Given the description of an element on the screen output the (x, y) to click on. 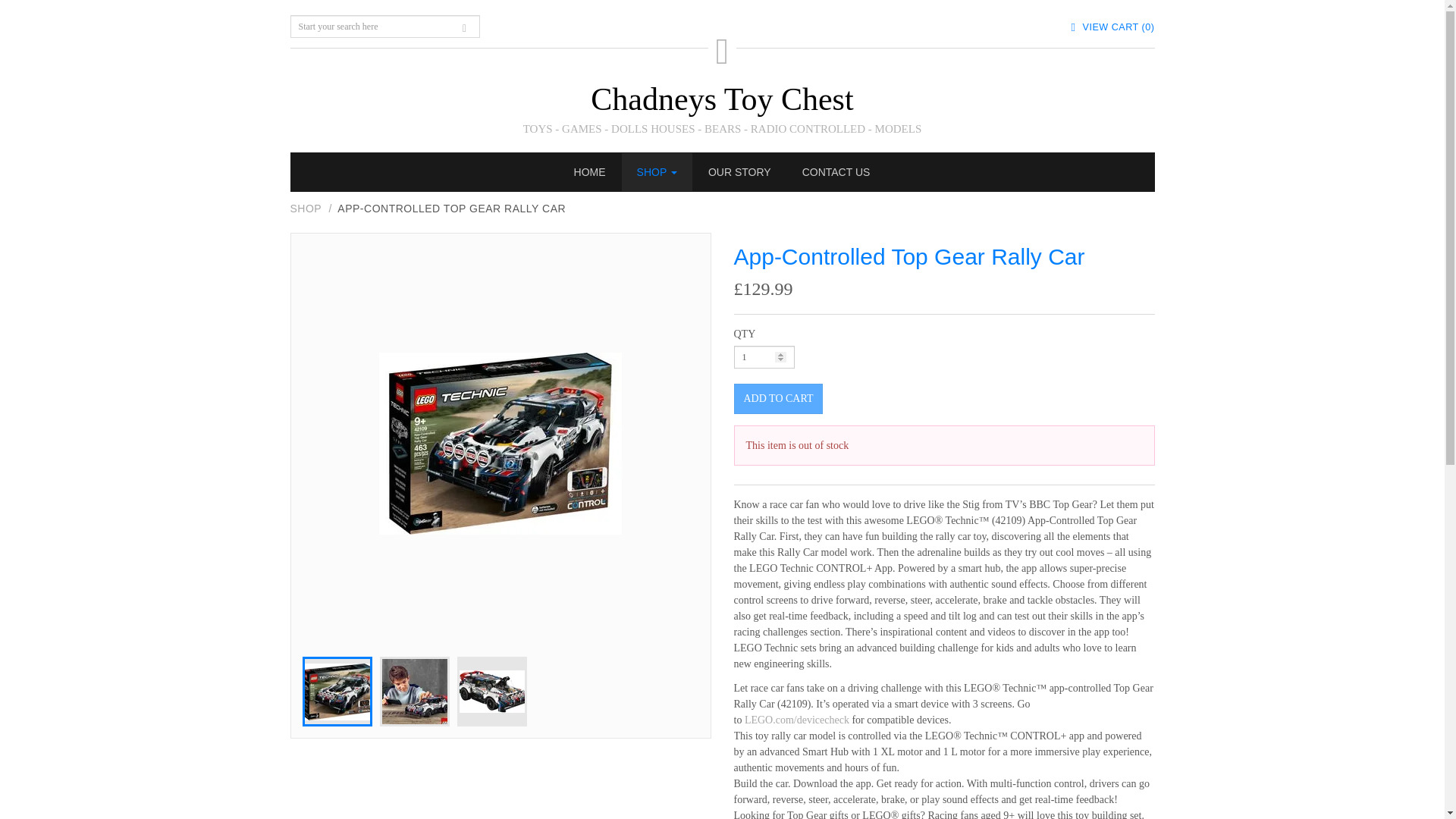
Add to Cart (778, 399)
1 (763, 356)
HOME (590, 171)
Chadneys Toy Chest (721, 99)
CONTACT US (836, 171)
SHOP (657, 171)
OUR STORY (739, 171)
